Given the description of an element on the screen output the (x, y) to click on. 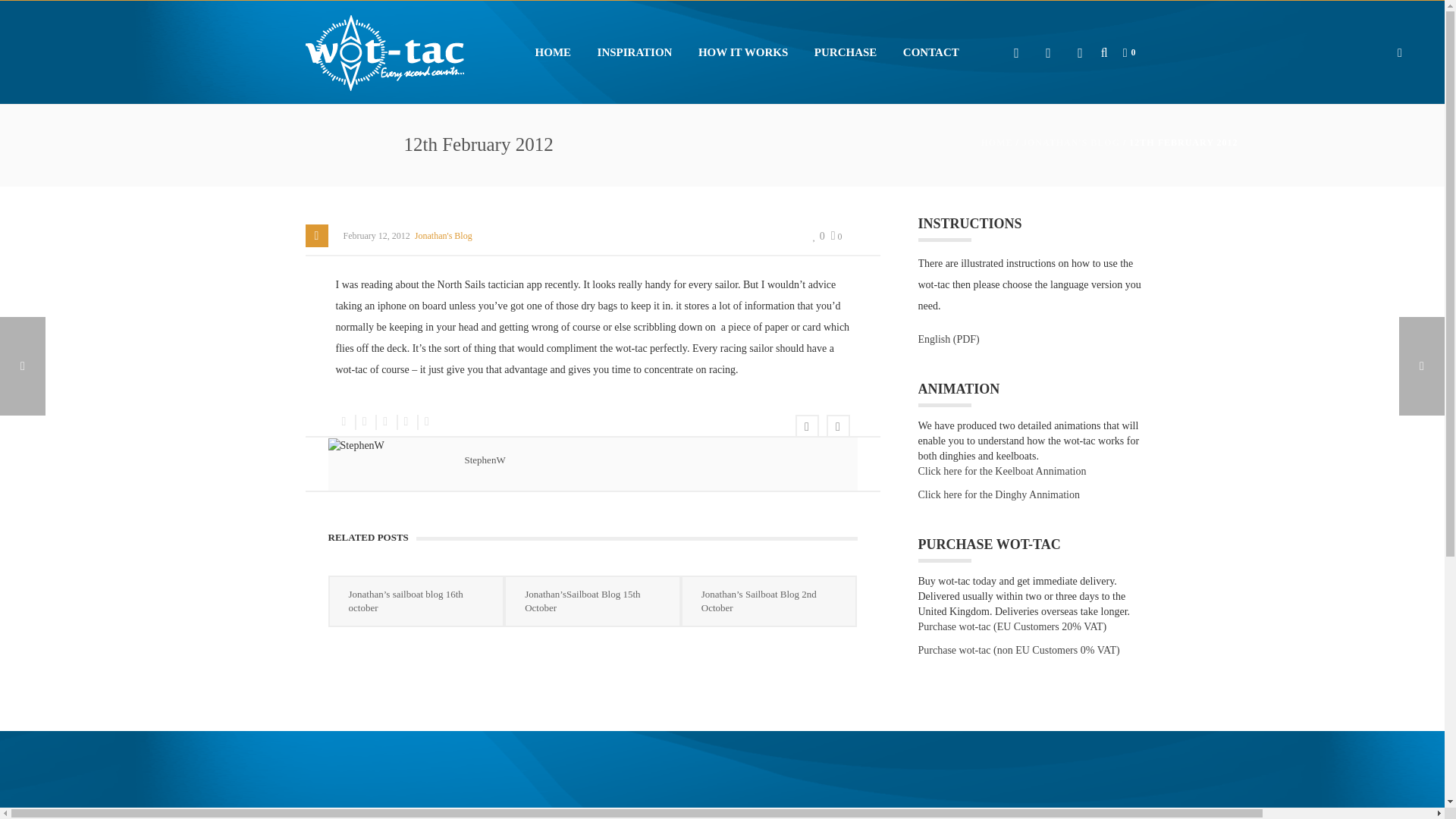
HOW IT WORKS (743, 52)
wot-tac (383, 51)
INSPIRATION (635, 52)
Click here for the Keelboat Annimation (1001, 471)
Click here for the Dinghy Animation (997, 495)
